Given the description of an element on the screen output the (x, y) to click on. 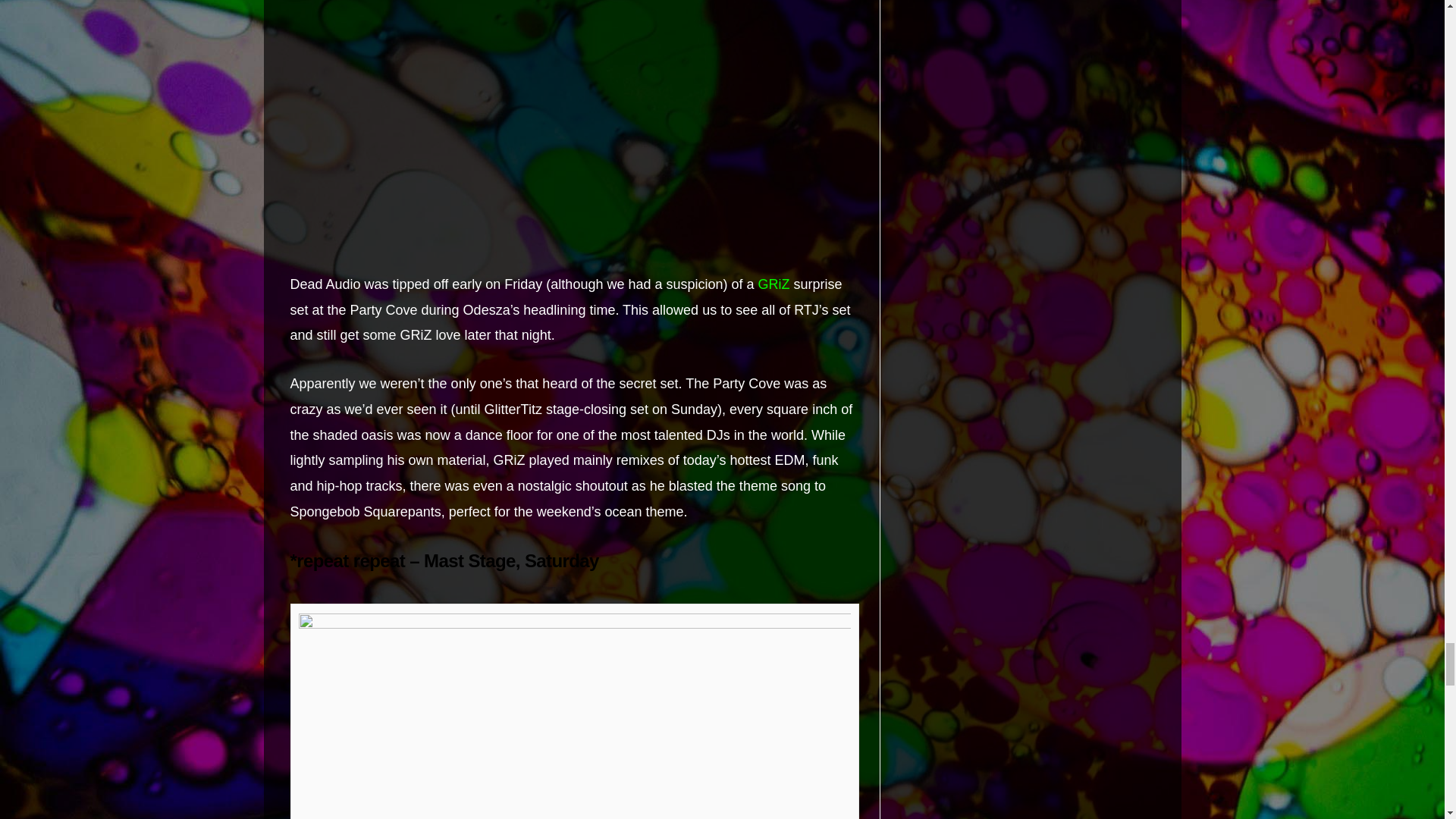
GRiZ (774, 283)
